Given the description of an element on the screen output the (x, y) to click on. 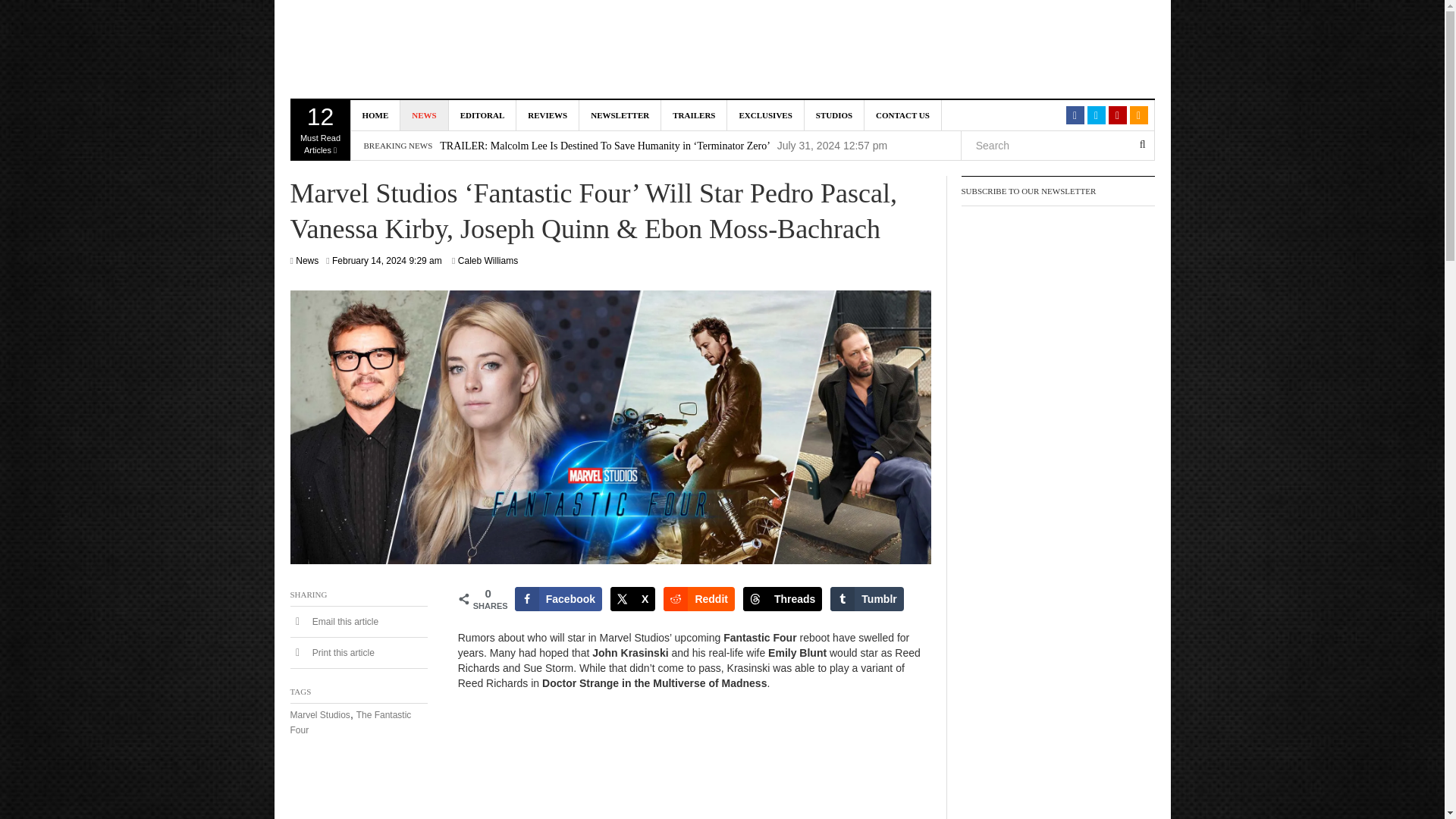
NEWS (424, 114)
EDITORAL (482, 114)
EXCLUSIVES (764, 114)
STUDIOS (834, 114)
TRAILERS (693, 114)
Share on X (632, 598)
CONTACT US (903, 114)
NEWSLETTER (620, 114)
HOME (375, 114)
Share on Threads (782, 598)
